Given the description of an element on the screen output the (x, y) to click on. 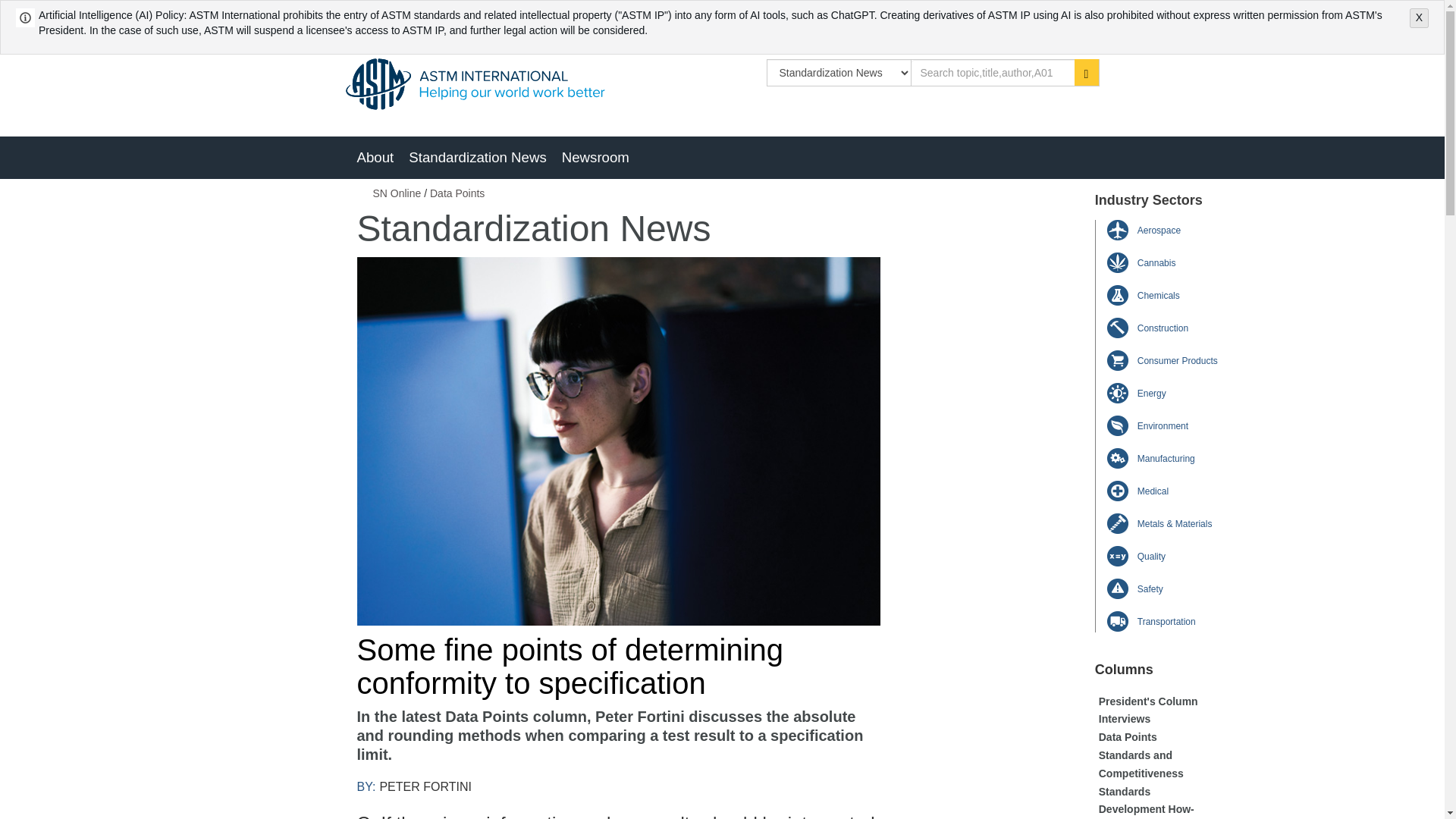
Home (475, 83)
X (1418, 17)
SEARCH (1085, 71)
Data Points (1128, 736)
SN Online (397, 193)
President's Column (1148, 701)
Consumer Products (1177, 360)
Safety (1150, 588)
Aerospace (1158, 230)
Standards and Competitiveness (1141, 764)
Standards Development How-To (1146, 802)
Standardization News (477, 157)
Manufacturing (1166, 458)
Newsroom (595, 157)
